Given the description of an element on the screen output the (x, y) to click on. 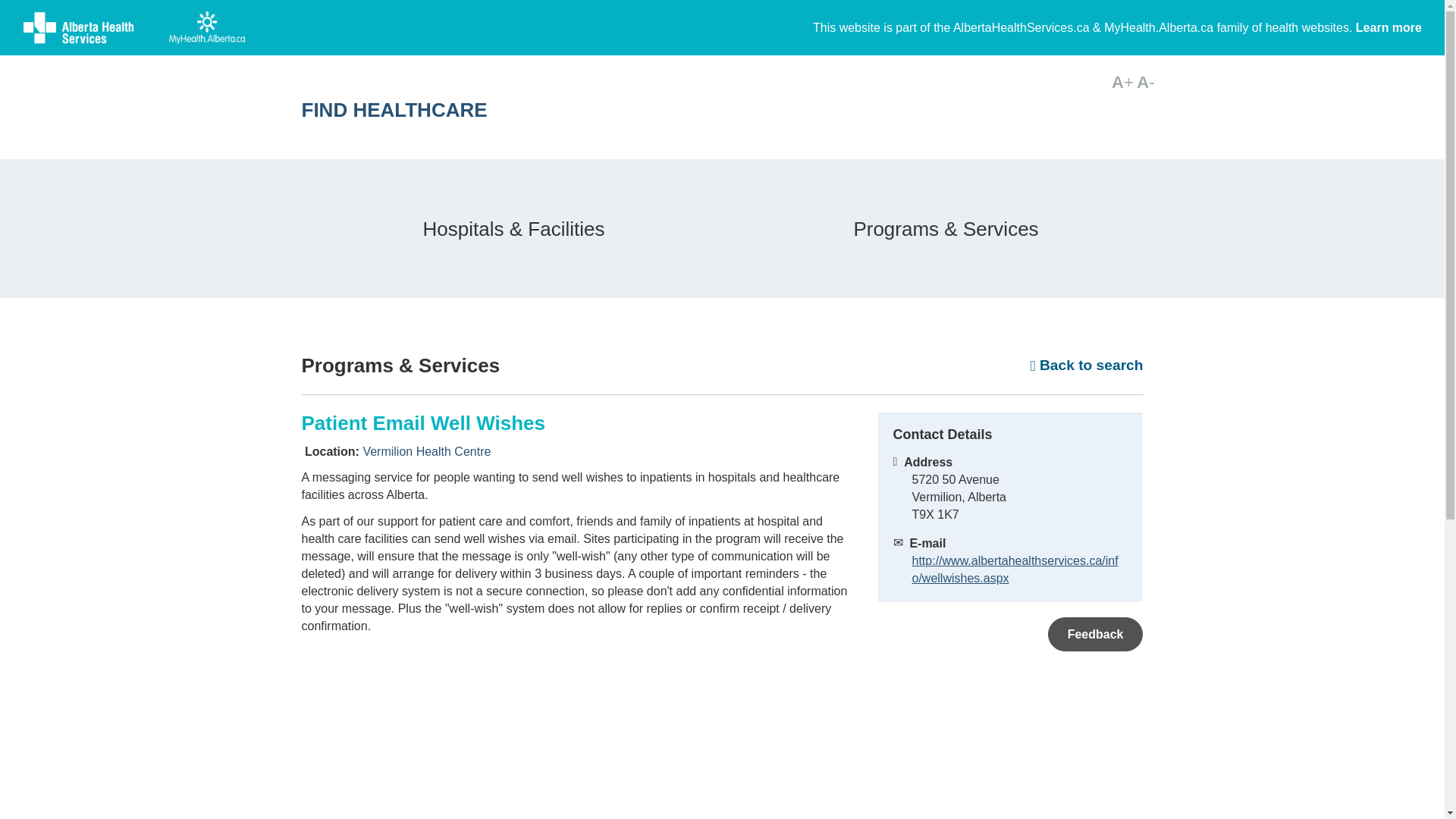
A- (1145, 81)
Back to search (1086, 364)
Vermilion Health Centre (426, 451)
Learn more (1388, 27)
FIND HEALTHCARE (574, 110)
